Given the description of an element on the screen output the (x, y) to click on. 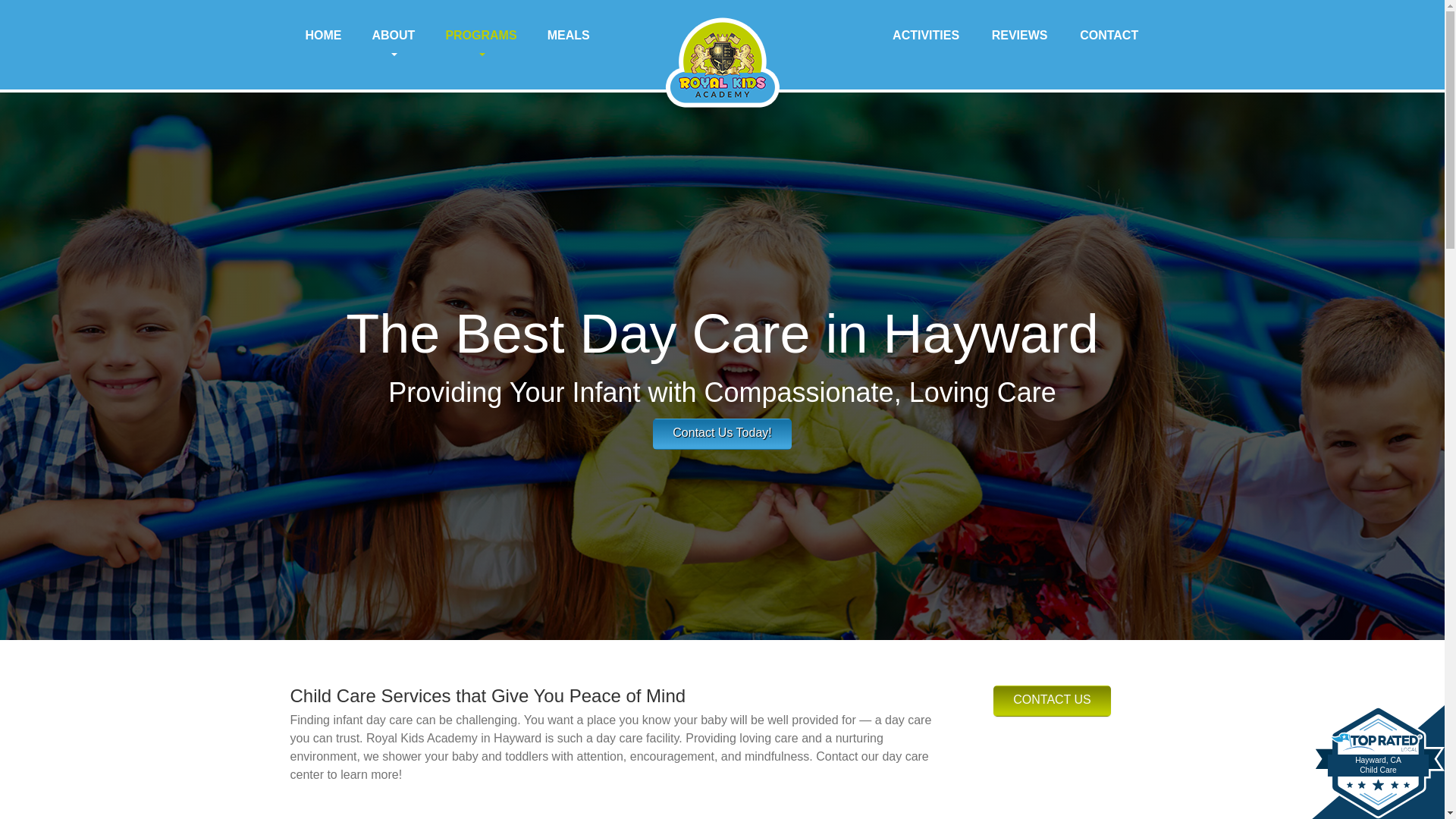
Contact Us Today! (721, 433)
ABOUT (392, 44)
PROGRAMS (480, 44)
ACTIVITIES (925, 35)
REVIEWS (1018, 35)
CONTACT (1109, 35)
HOME (322, 35)
CONTACT US (1051, 700)
MEALS (568, 35)
